Given the description of an element on the screen output the (x, y) to click on. 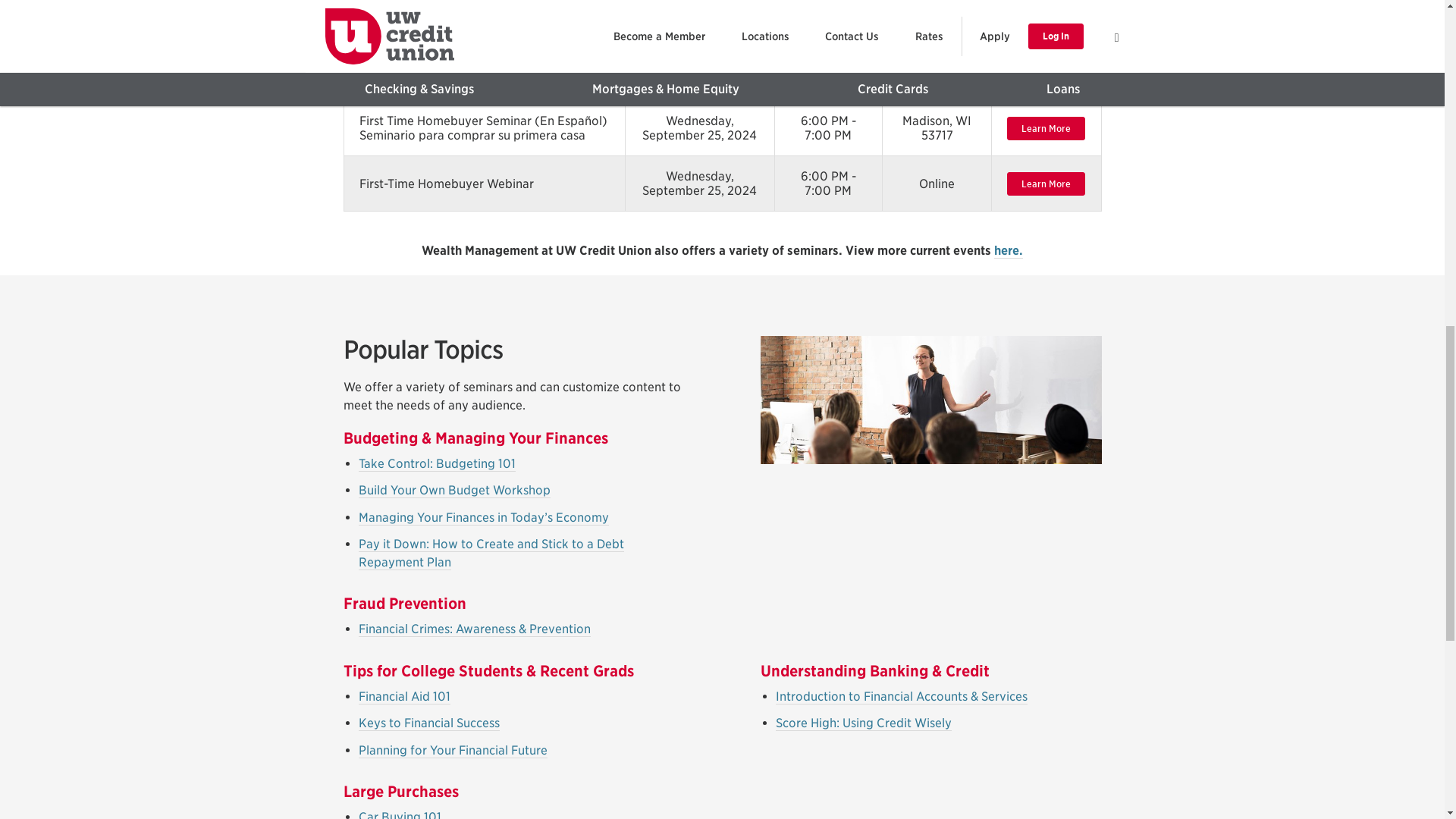
Car Buying 101 (399, 814)
Score High: Using Credit Wisely (862, 723)
Planning for Your Financial Future (452, 750)
Take Control: Budgeting 101 (436, 463)
Events (1008, 250)
Financial Aid 101 (403, 696)
Build Your Own Budget Workshop (454, 490)
Keys to Financial Success (428, 723)
Managing Your Finances in Today's Economy (483, 517)
